Given the description of an element on the screen output the (x, y) to click on. 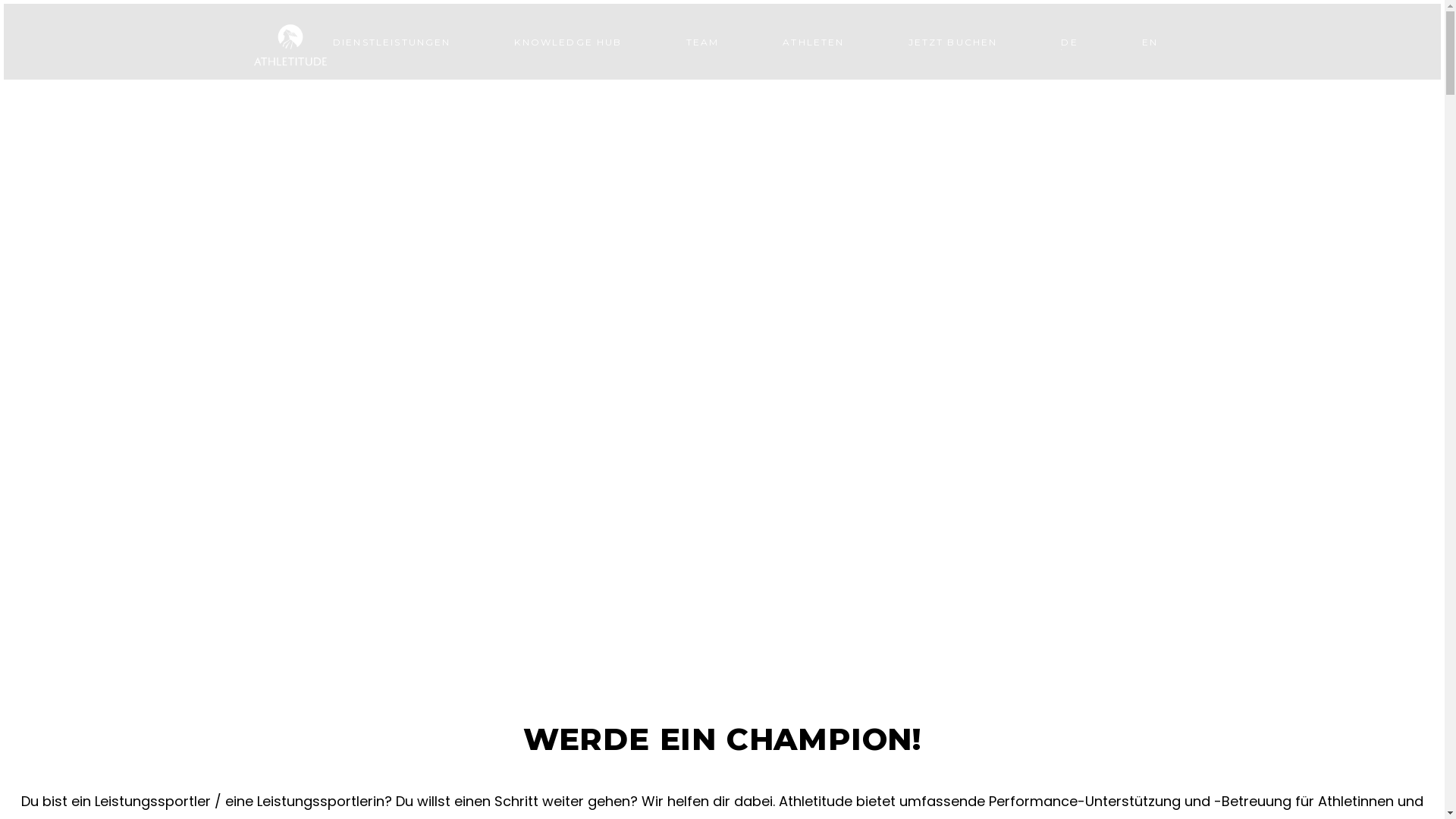
ATHLETEN Element type: text (812, 41)
JETZT BUCHEN Element type: text (952, 41)
DIENSTLEISTUNGEN Element type: text (392, 41)
KNOWLEDGE HUB Element type: text (567, 41)
DE Element type: text (1069, 41)
EN Element type: text (1149, 41)
TEAM Element type: text (702, 41)
